Given the description of an element on the screen output the (x, y) to click on. 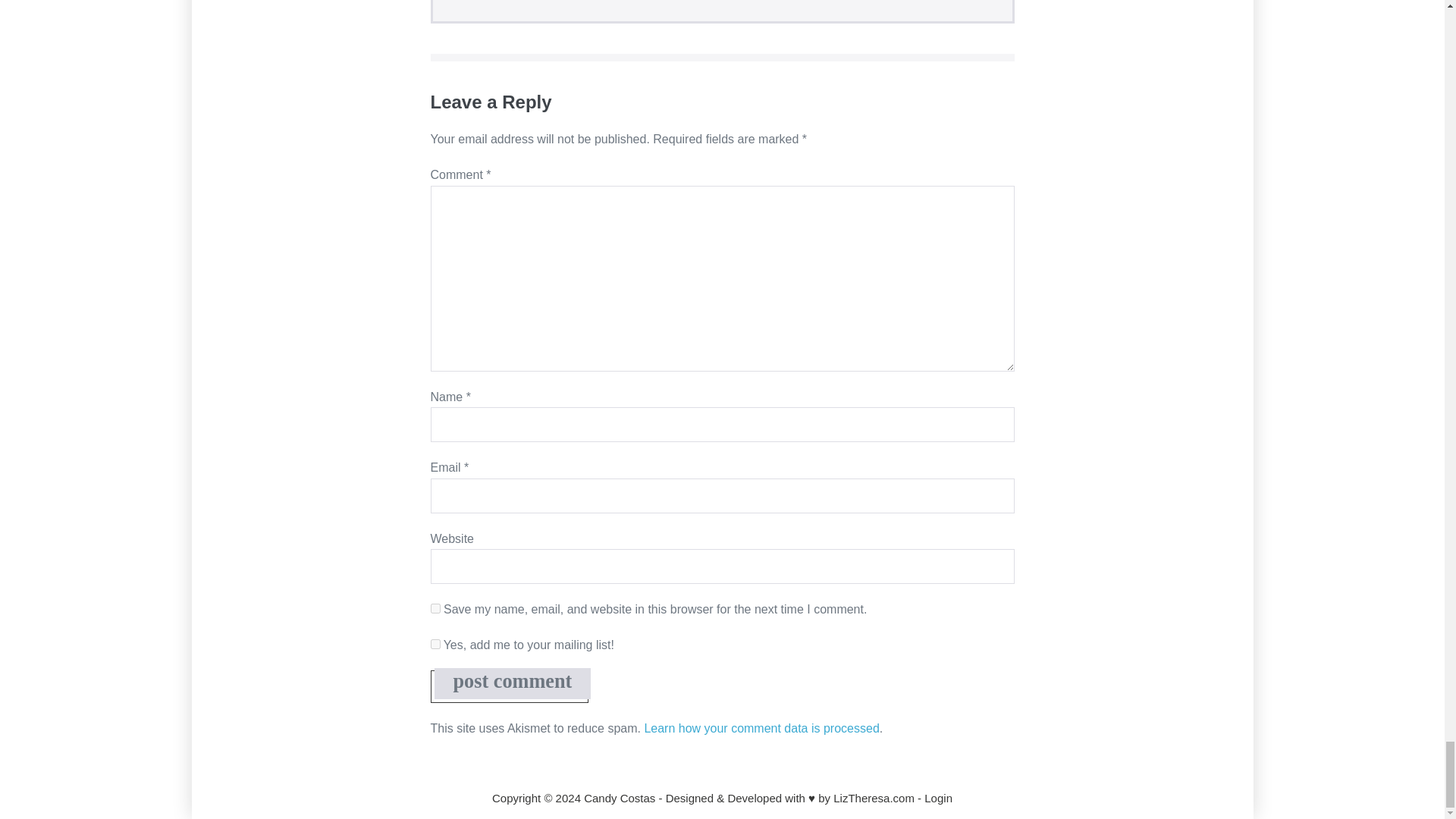
yes (435, 608)
Post Comment (512, 683)
1 (435, 644)
